Given the description of an element on the screen output the (x, y) to click on. 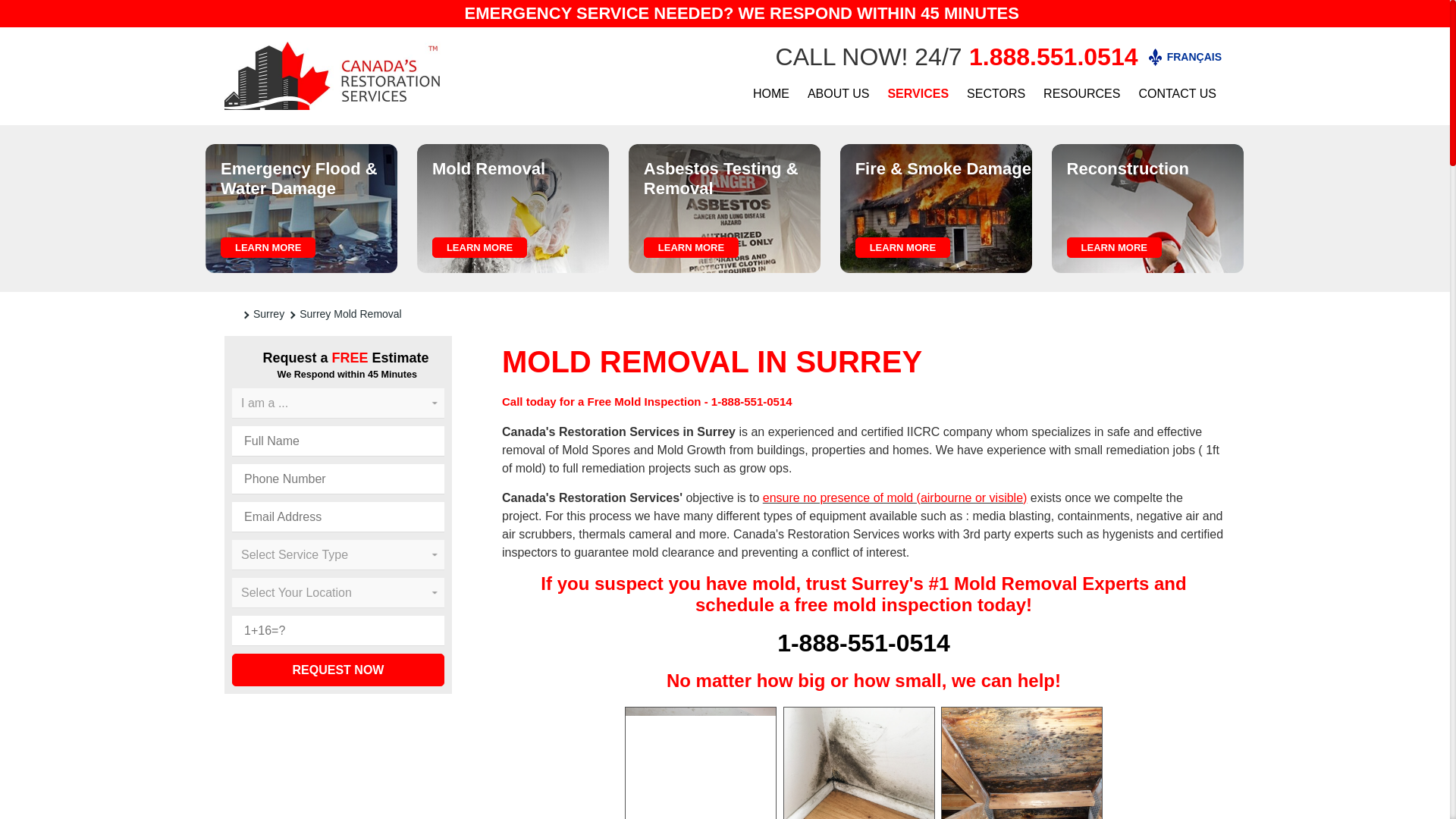
RESOURCES (1081, 93)
1.888.551.0514 (1053, 56)
HOME (770, 93)
CONTACT US (1177, 93)
SECTORS (995, 93)
ABOUT US (838, 93)
SERVICES (917, 93)
